Given the description of an element on the screen output the (x, y) to click on. 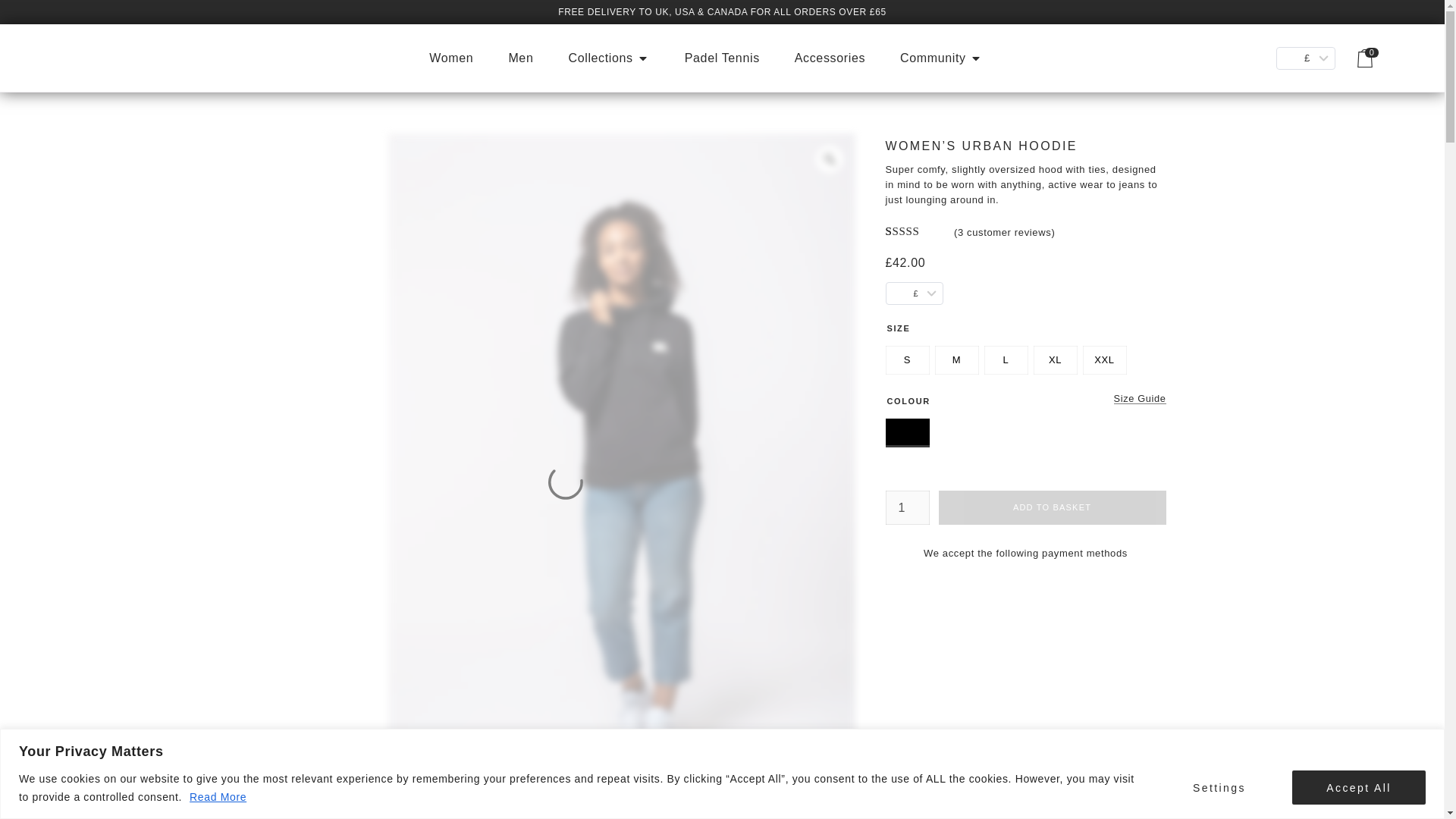
S (907, 361)
Description (1025, 806)
Settings (1219, 787)
Women (451, 58)
Community (941, 58)
1 (907, 507)
0 (1364, 58)
Size Guide (1139, 399)
L (1005, 361)
Collections (608, 58)
